Given the description of an element on the screen output the (x, y) to click on. 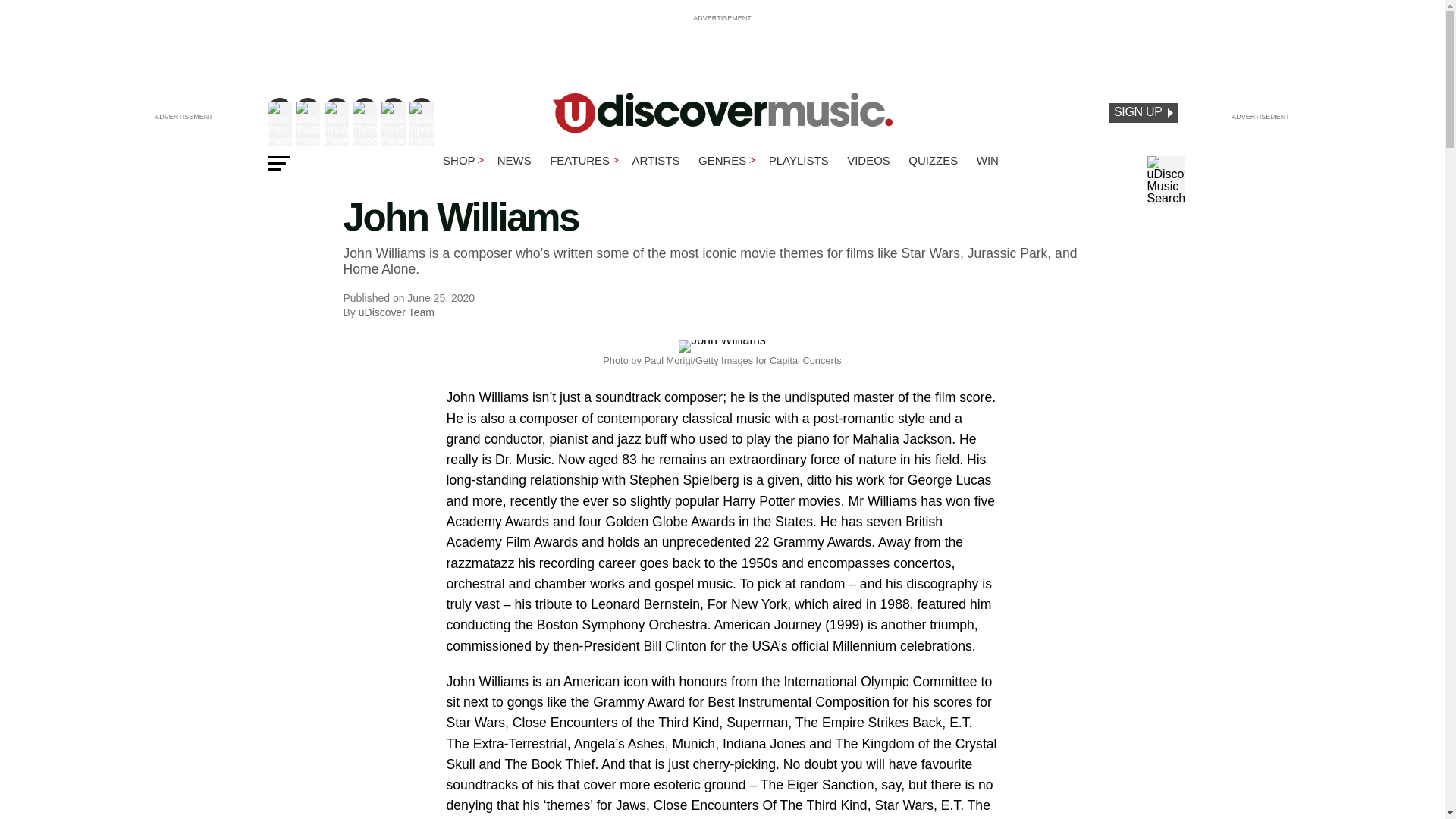
Posts by uDiscover Team (395, 312)
